Given the description of an element on the screen output the (x, y) to click on. 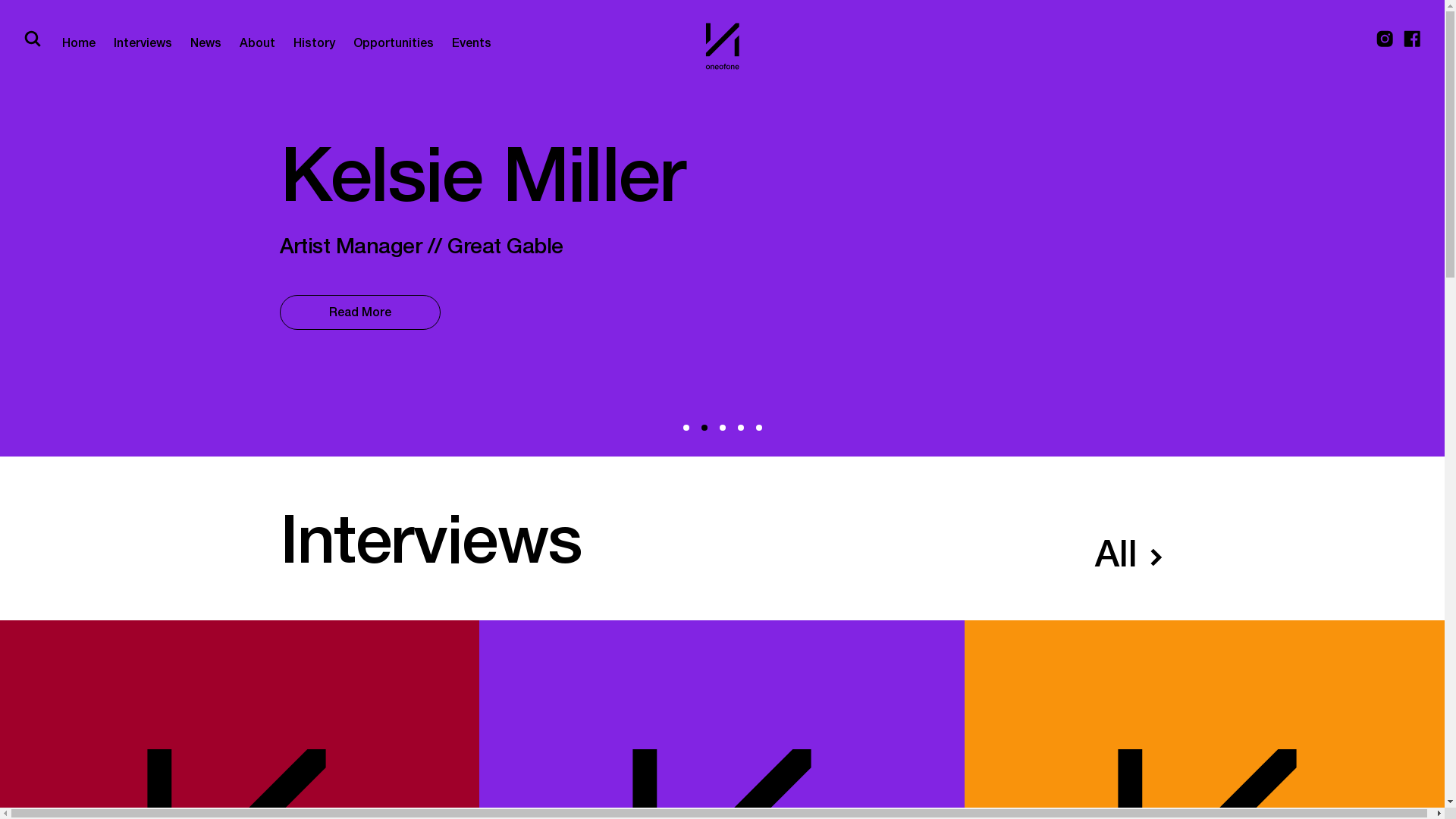
About Element type: text (257, 45)
News Element type: text (205, 45)
Opportunities Element type: text (393, 45)
Events Element type: text (471, 45)
All Element type: text (1130, 553)
History Element type: text (314, 45)
Interviews Element type: text (142, 45)
Read More Element type: text (359, 311)
Home Element type: text (78, 45)
